Given the description of an element on the screen output the (x, y) to click on. 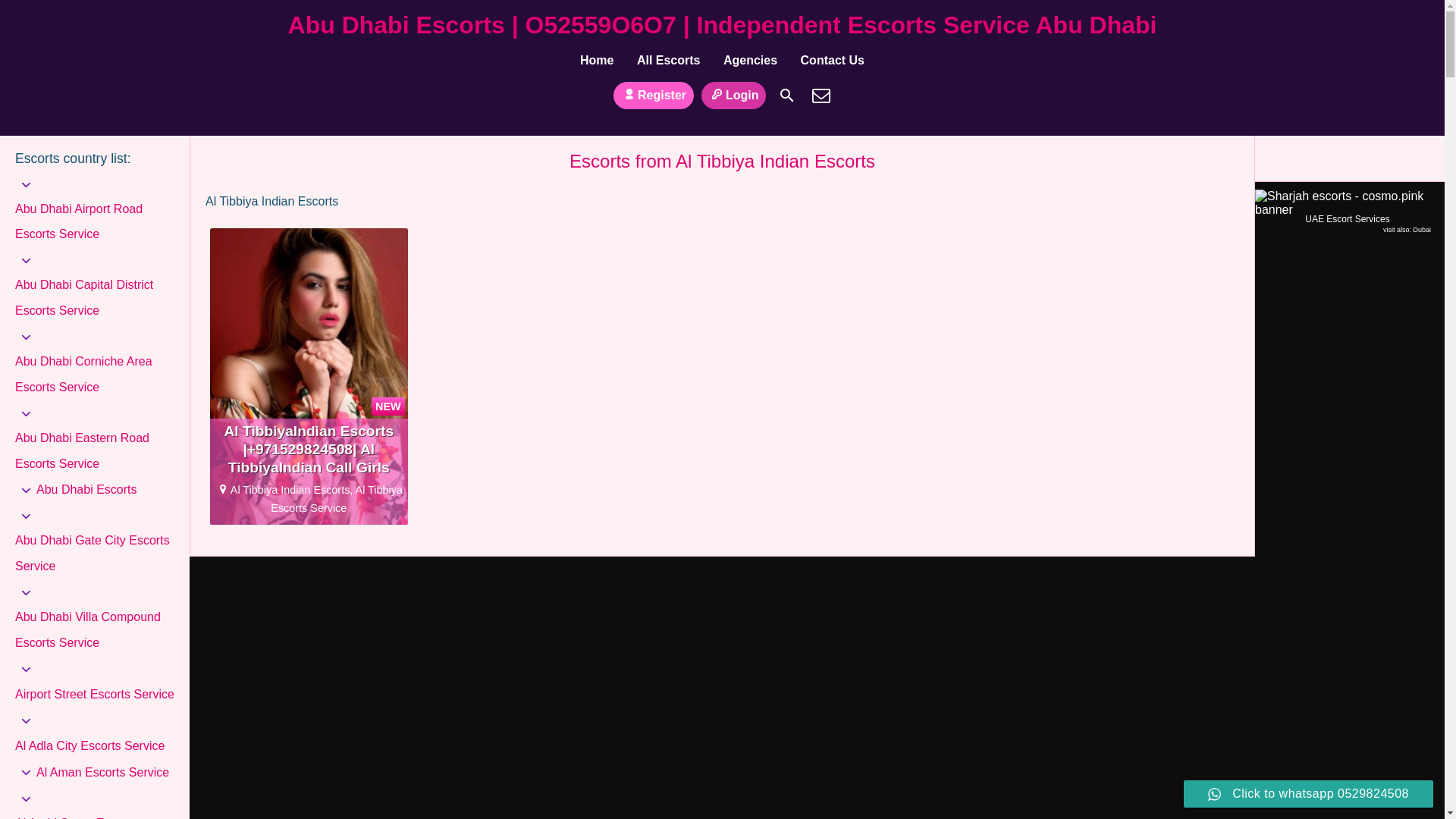
All Escorts (668, 60)
UAE Escort Services (1343, 212)
Escorts Dubai (1421, 229)
Contact Us (821, 94)
Abu Dhabi Capital District Escorts Service (94, 296)
Login (734, 94)
Abu Dhabi Airport Road Escorts Service (94, 221)
Register (653, 94)
Abu Dhabi Corniche Area Escorts Service (94, 373)
Agencies (750, 60)
